Given the description of an element on the screen output the (x, y) to click on. 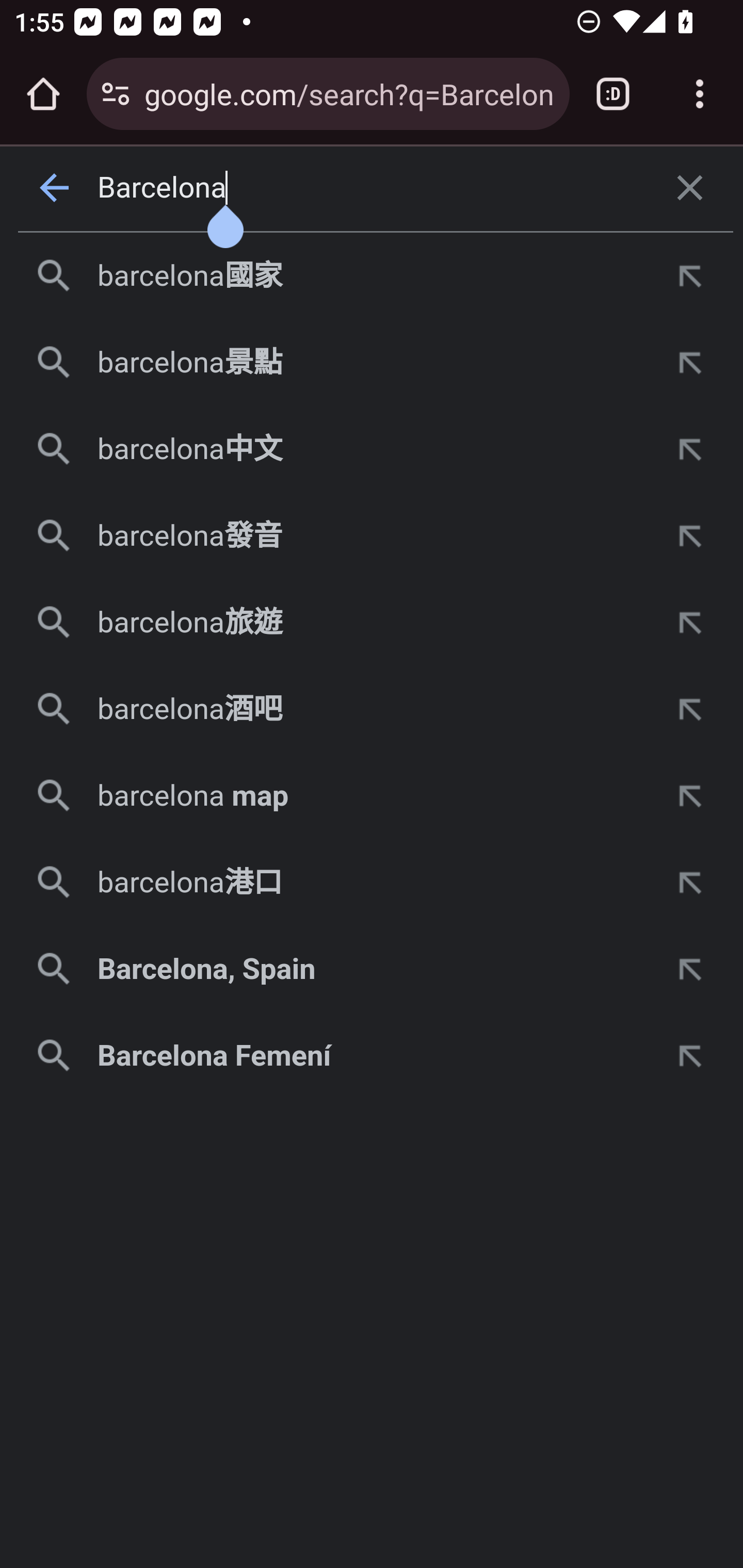
Open the home page (43, 93)
Connection is secure (115, 93)
Switch or close tabs (612, 93)
Customize and control Google Chrome (699, 93)
上一頁 (54, 188)
清除搜尋內容 (690, 188)
Barcelona (372, 188)
圖片 (148, 378)
新聞 (242, 378)
總覽 (83, 605)
賽程 (206, 605)
